Given the description of an element on the screen output the (x, y) to click on. 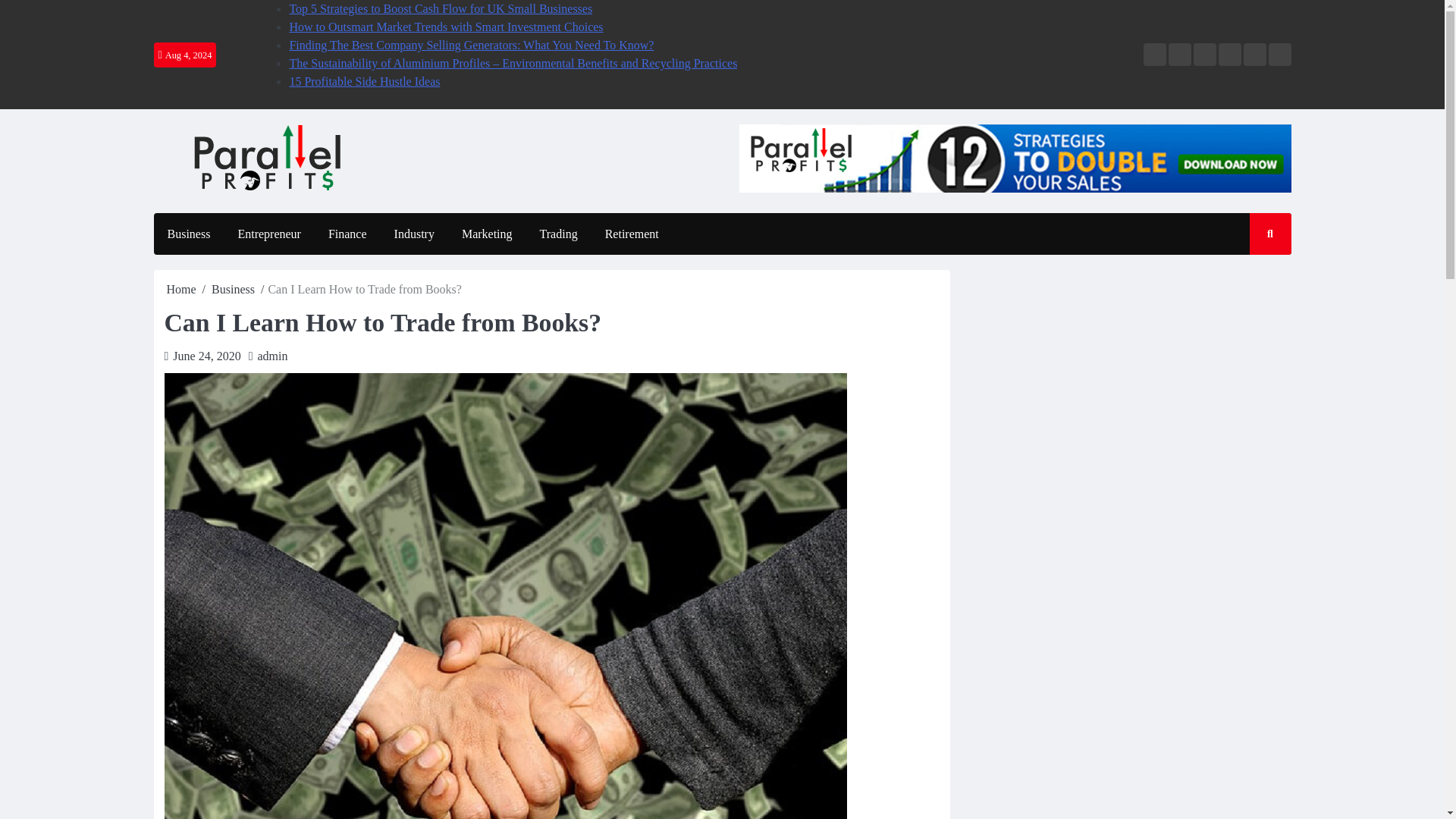
Retirement (631, 234)
15 Profitable Side Hustle Ideas (363, 81)
Home (181, 288)
Home (1154, 54)
Trading (558, 234)
admin (272, 355)
Business (188, 234)
Search (1256, 277)
Write for Us (1204, 54)
